Given the description of an element on the screen output the (x, y) to click on. 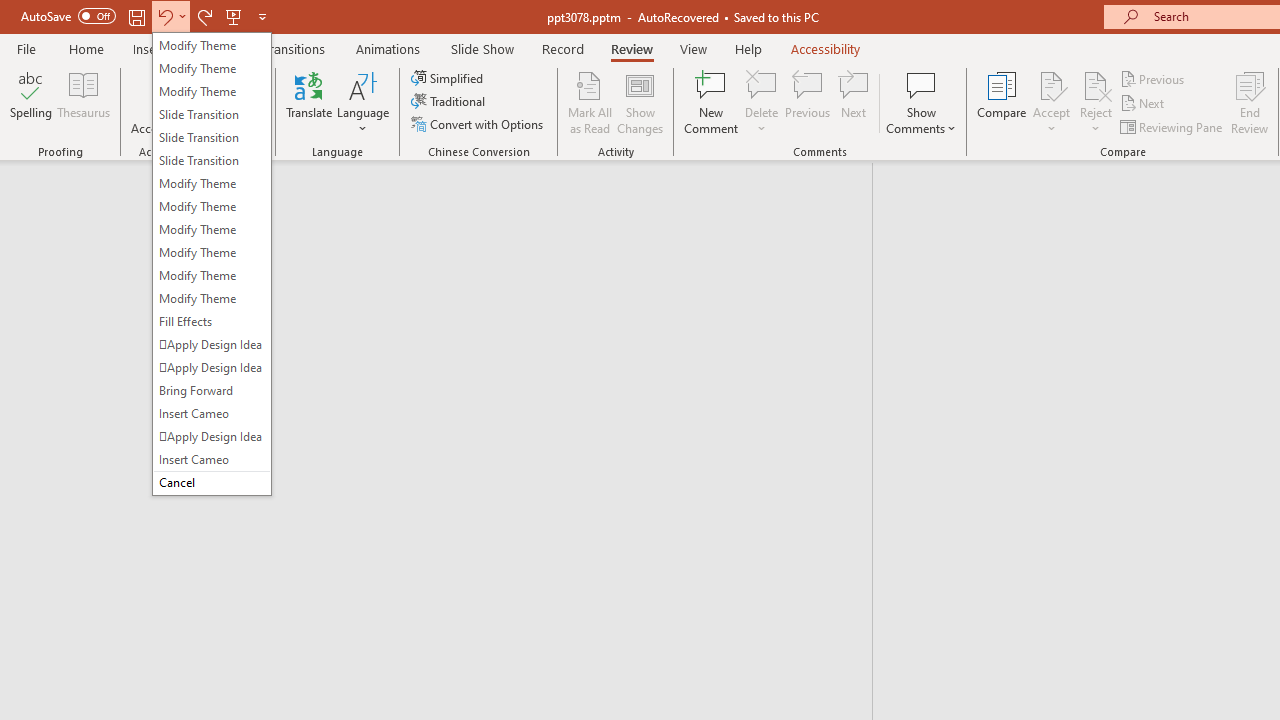
&Undo (211, 263)
Delete (762, 84)
Show Comments (921, 84)
Translate (309, 102)
Simplified (449, 78)
Accept Change (1051, 84)
Compare (1002, 102)
